Given the description of an element on the screen output the (x, y) to click on. 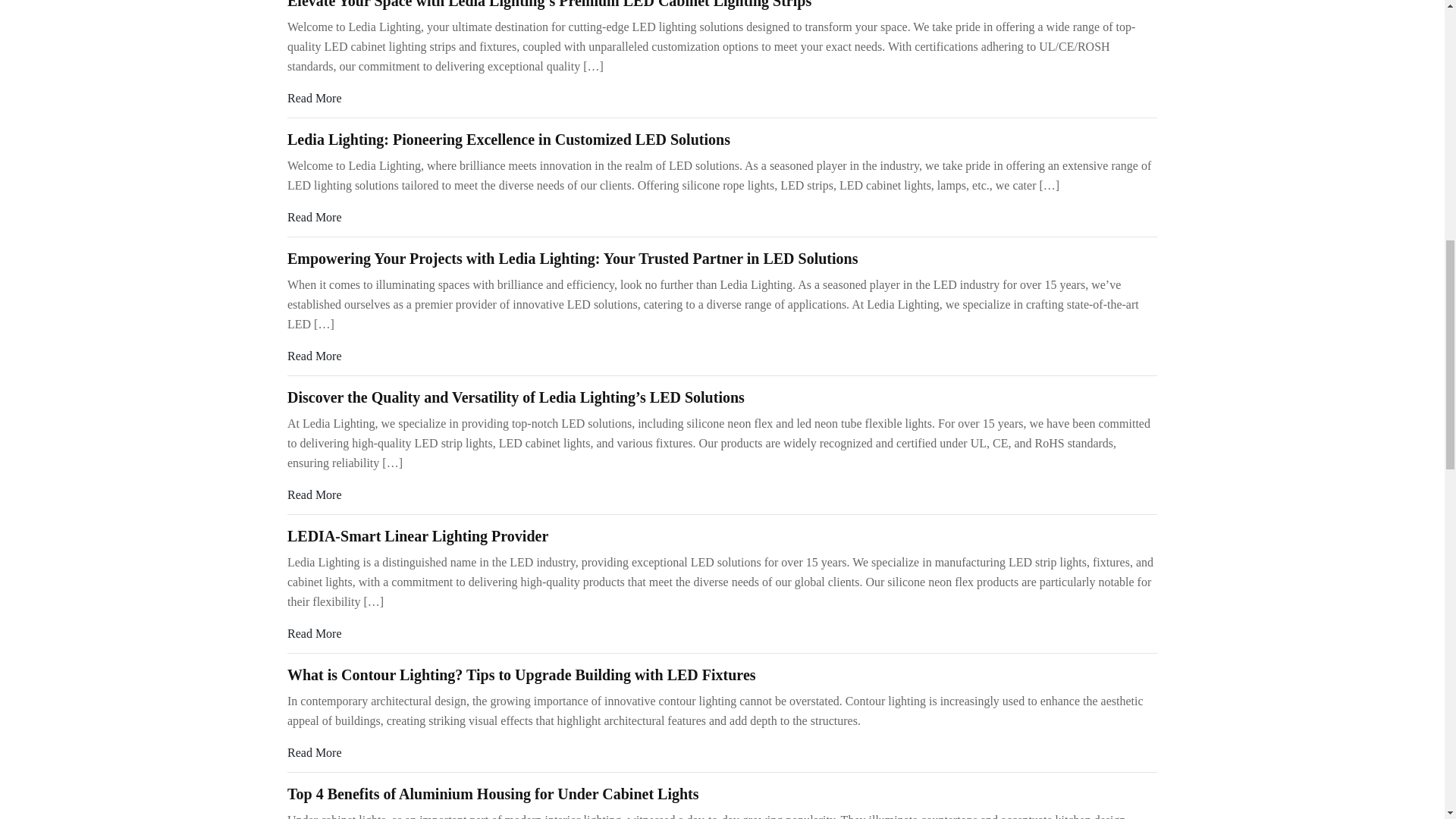
Read More (314, 216)
Read More (314, 355)
Read More (314, 97)
Read More (314, 633)
Read More (314, 752)
Read More (314, 494)
